Given the description of an element on the screen output the (x, y) to click on. 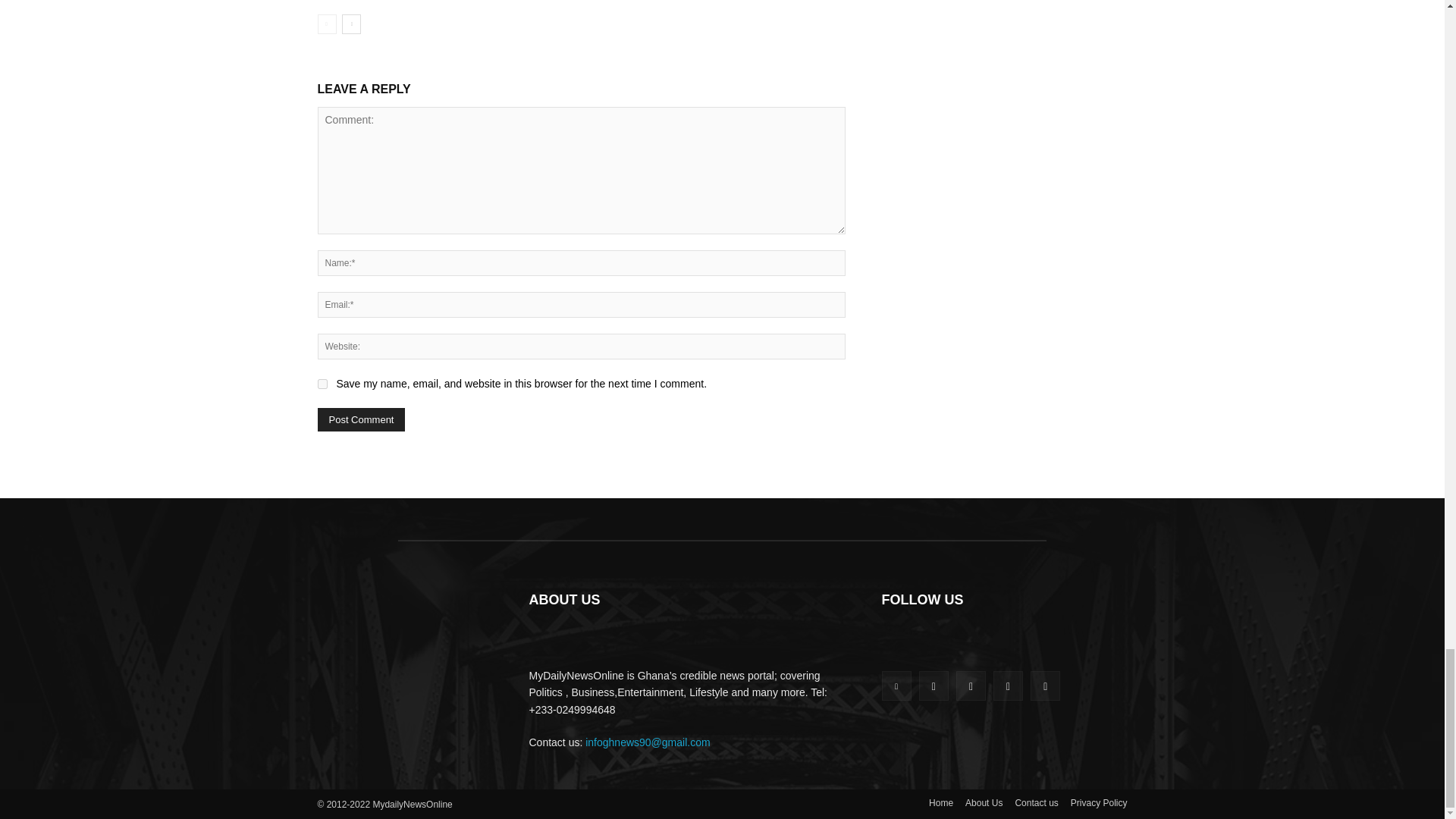
yes (321, 384)
Post Comment (360, 419)
